Given the description of an element on the screen output the (x, y) to click on. 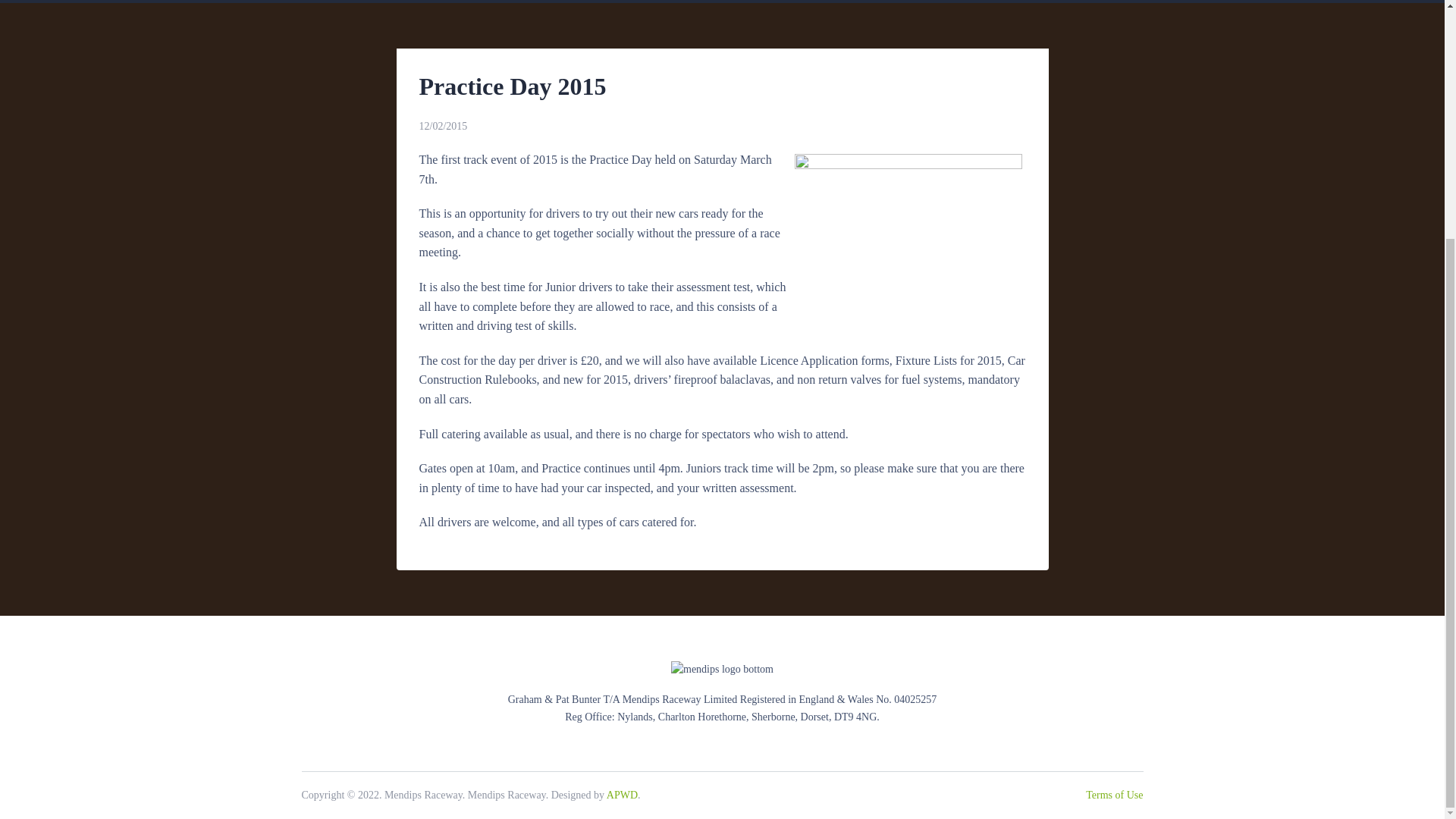
Terms of Use (1114, 795)
APWD (622, 794)
